Given the description of an element on the screen output the (x, y) to click on. 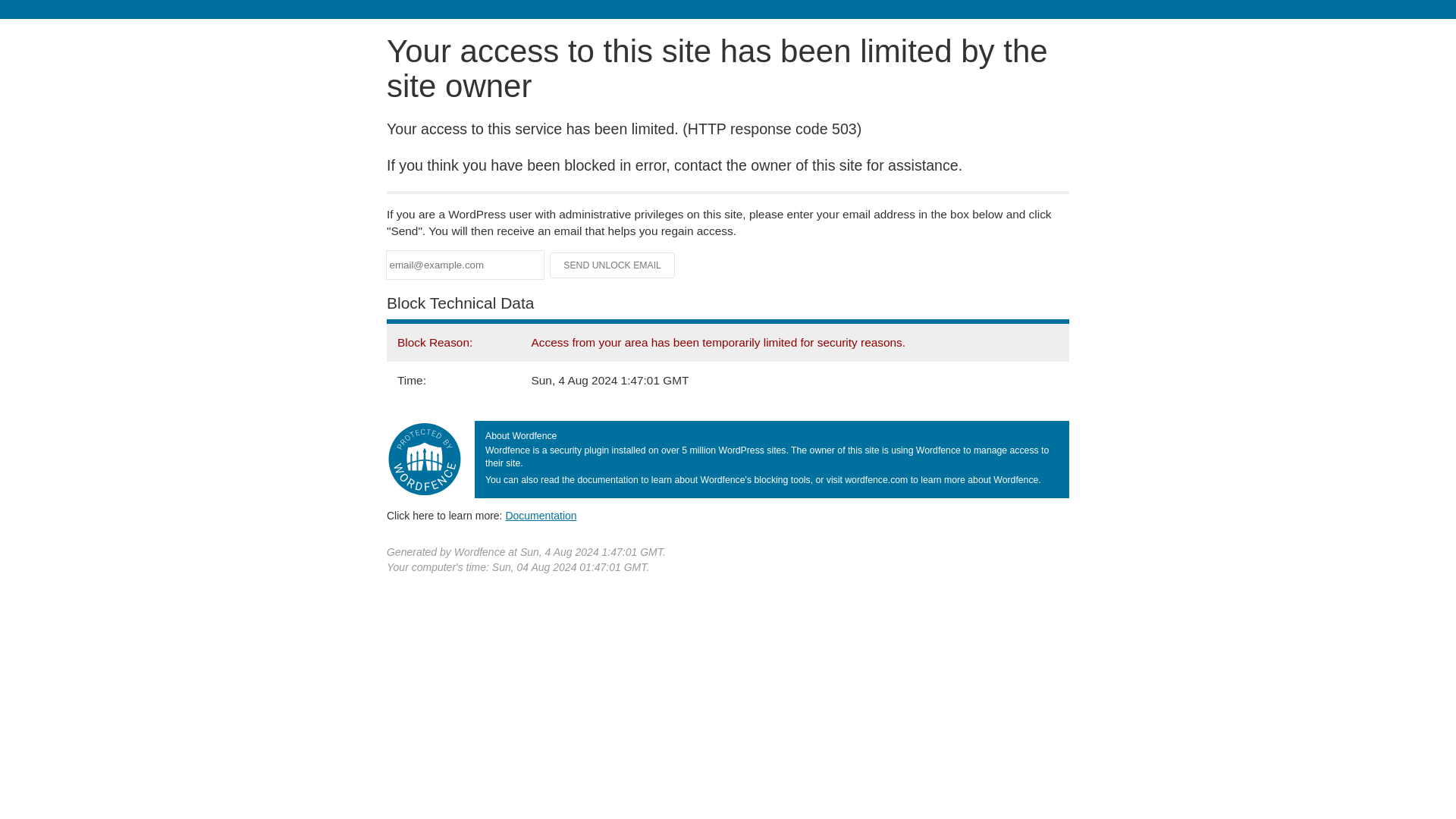
Documentation (540, 515)
Send Unlock Email (612, 265)
Send Unlock Email (612, 265)
